Given the description of an element on the screen output the (x, y) to click on. 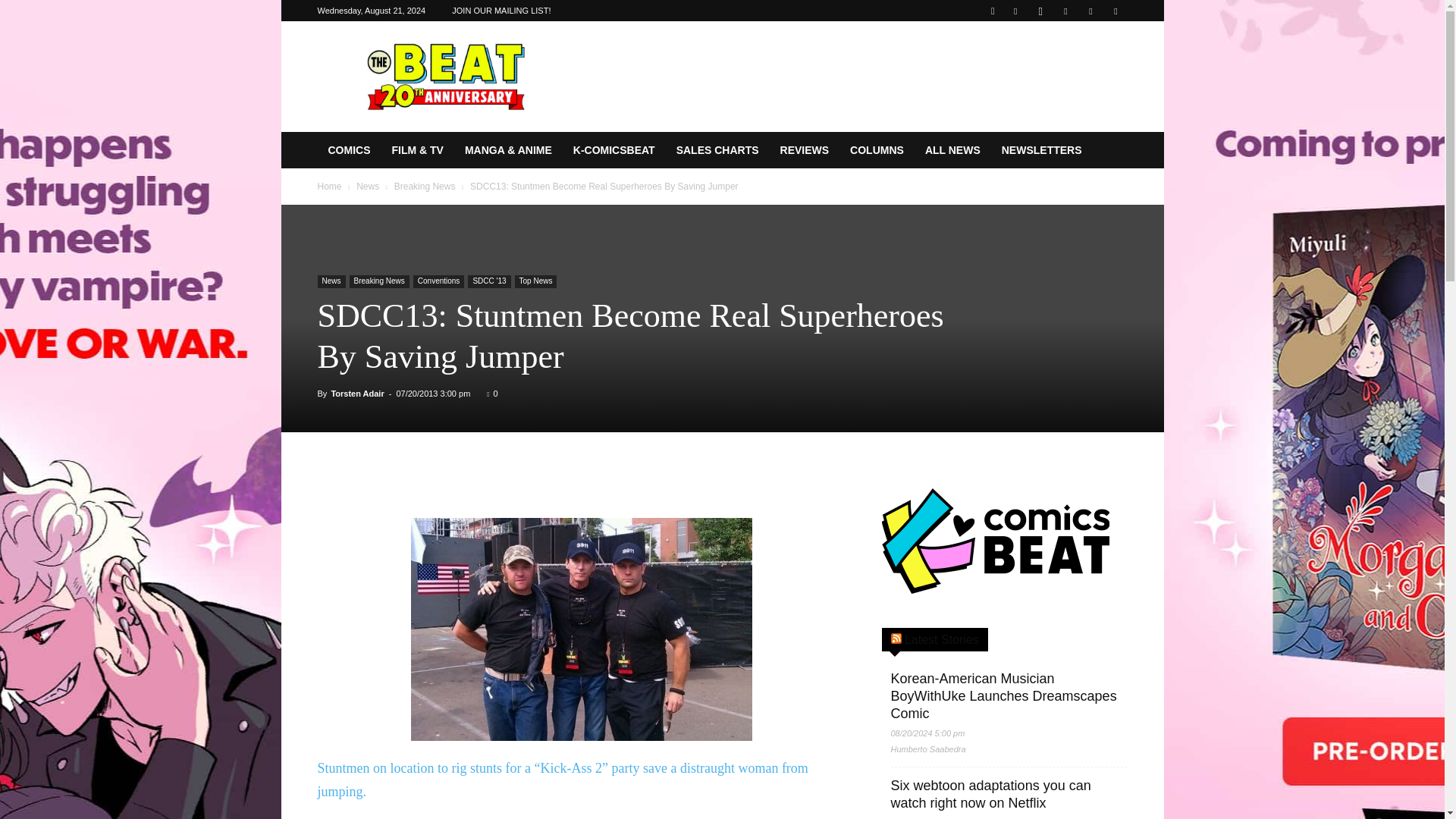
Youtube (1114, 10)
Instagram (1040, 10)
REVIEWS (805, 149)
JOIN OUR MAILING LIST! (500, 10)
ALL NEWS (952, 149)
NEWSLETTERS (1042, 149)
RSS (1065, 10)
Facebook (1015, 10)
SALES CHARTS (717, 149)
View all posts in News (367, 185)
